Given the description of an element on the screen output the (x, y) to click on. 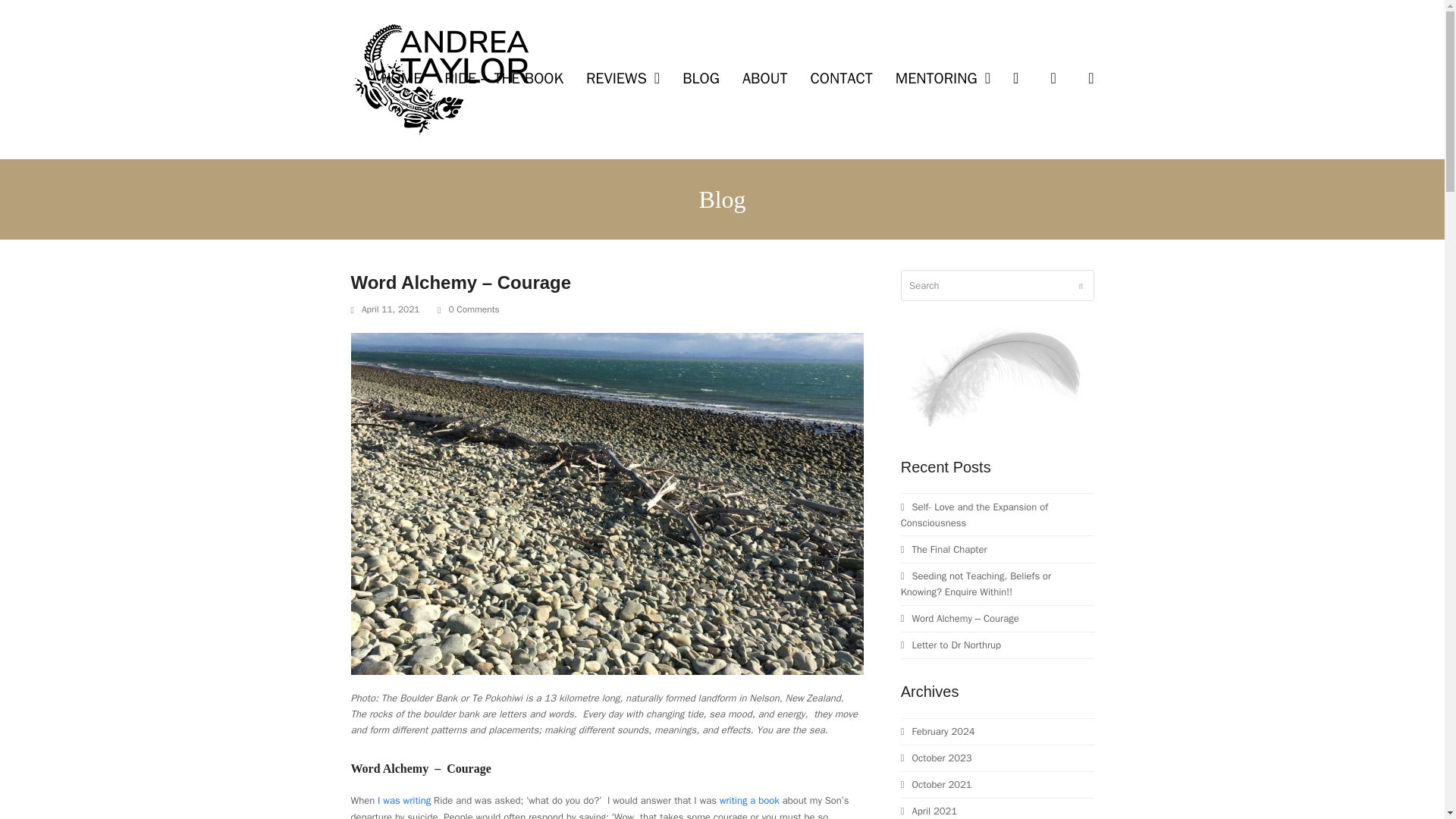
0 Comments (468, 309)
writing a book (748, 799)
MENTORING (942, 79)
I was writing (403, 799)
CONTACT (840, 79)
HOME (400, 79)
REVIEWS (623, 79)
BLOG (700, 79)
0 Comments (473, 309)
ABOUT (764, 79)
